Given the description of an element on the screen output the (x, y) to click on. 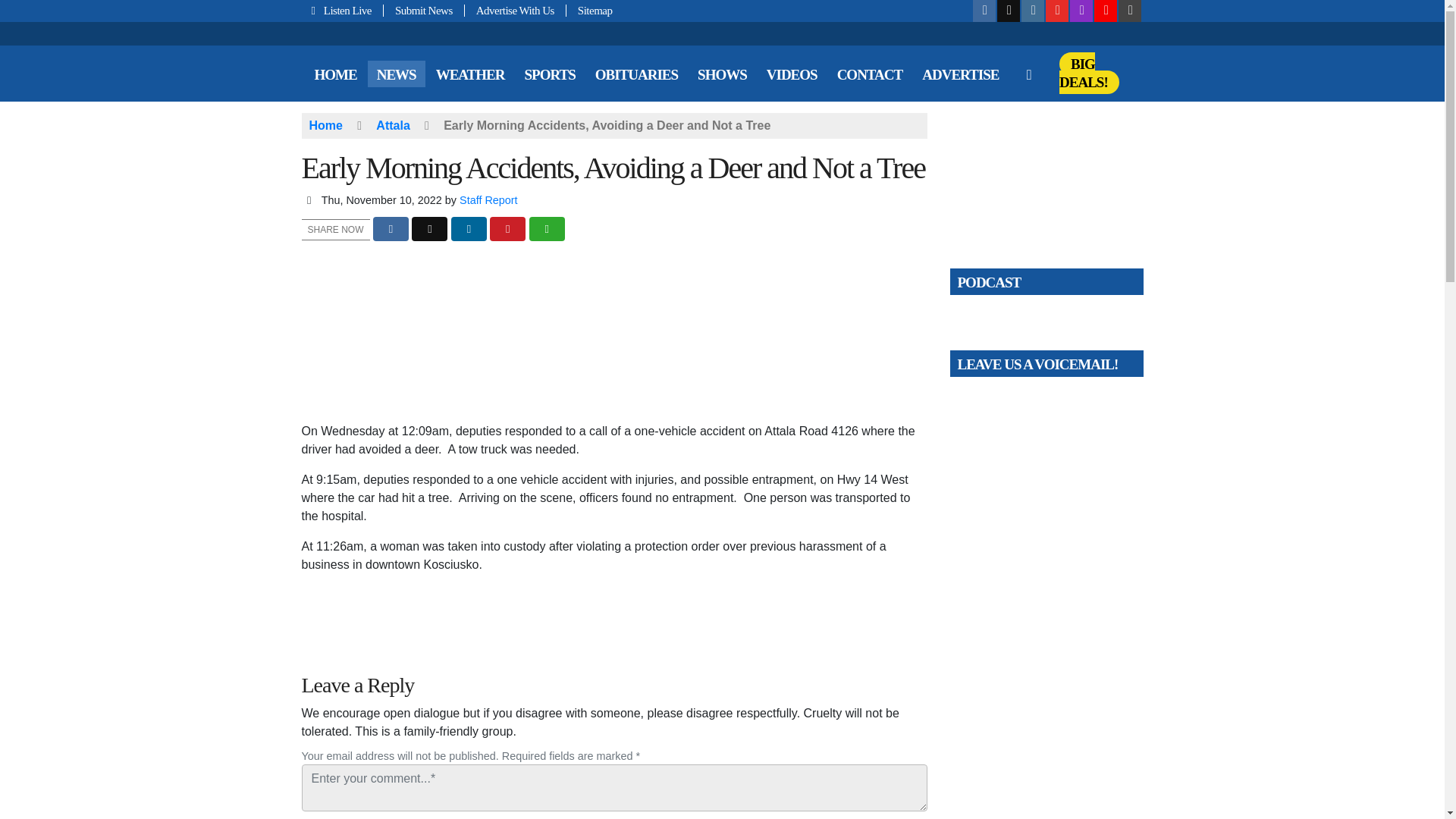
Follow us on Youtube (1056, 11)
Sitemap (589, 10)
Follow us on Facebook (983, 11)
Listen Live (342, 10)
Follow us on X (1008, 11)
Follow us on Instagram (1032, 11)
Advertise With Us (515, 10)
Submit News (424, 10)
Follow us on Soundcloud (1105, 11)
Follow our Podcast (1081, 11)
